Given the description of an element on the screen output the (x, y) to click on. 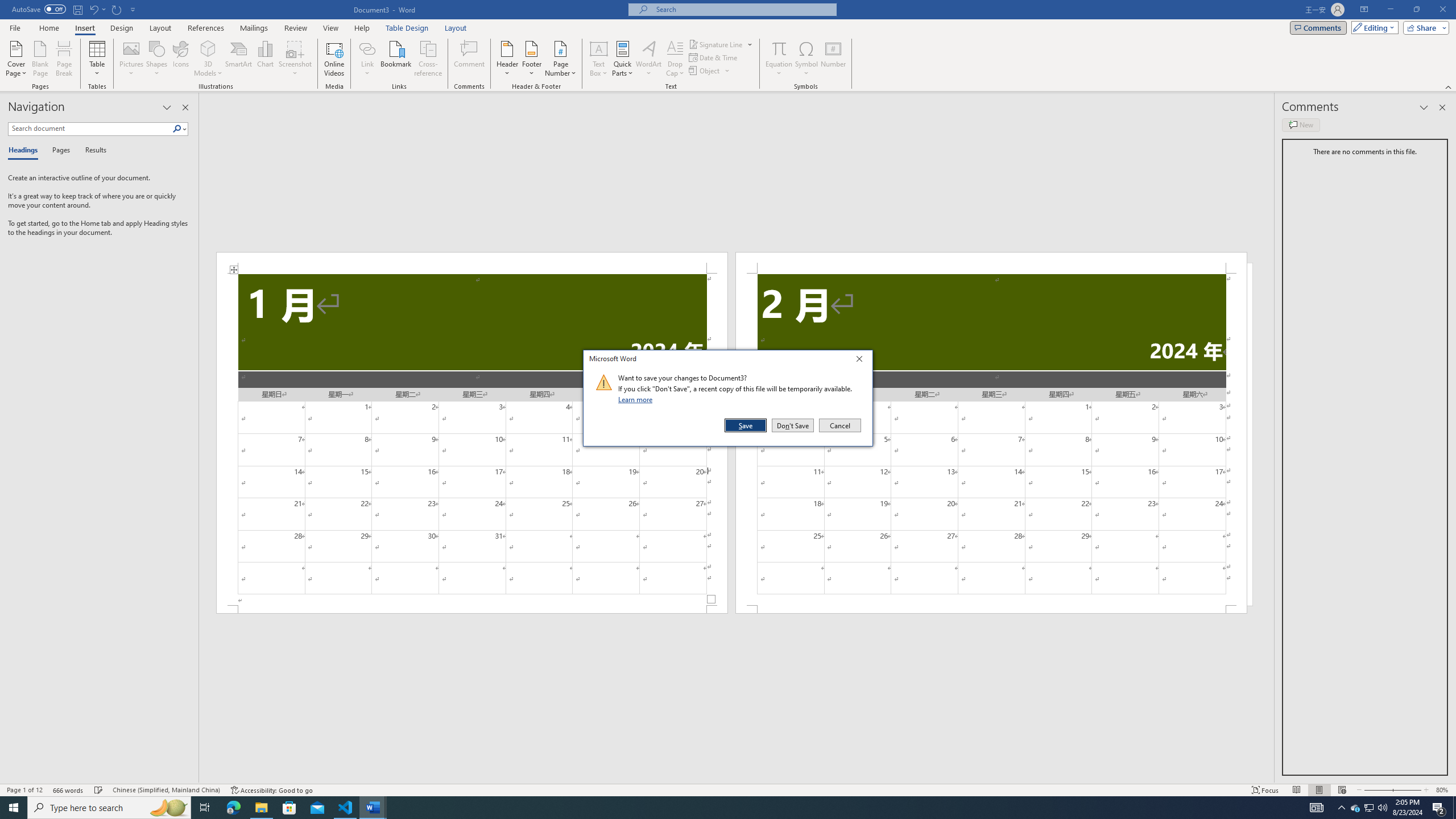
Accessibility Checker Accessibility: Good to go (271, 790)
Screenshot (295, 58)
Search highlights icon opens search home window (167, 807)
Don't Save (792, 425)
Footer -Section 2- (991, 609)
Task View (204, 807)
Link (367, 48)
